Given the description of an element on the screen output the (x, y) to click on. 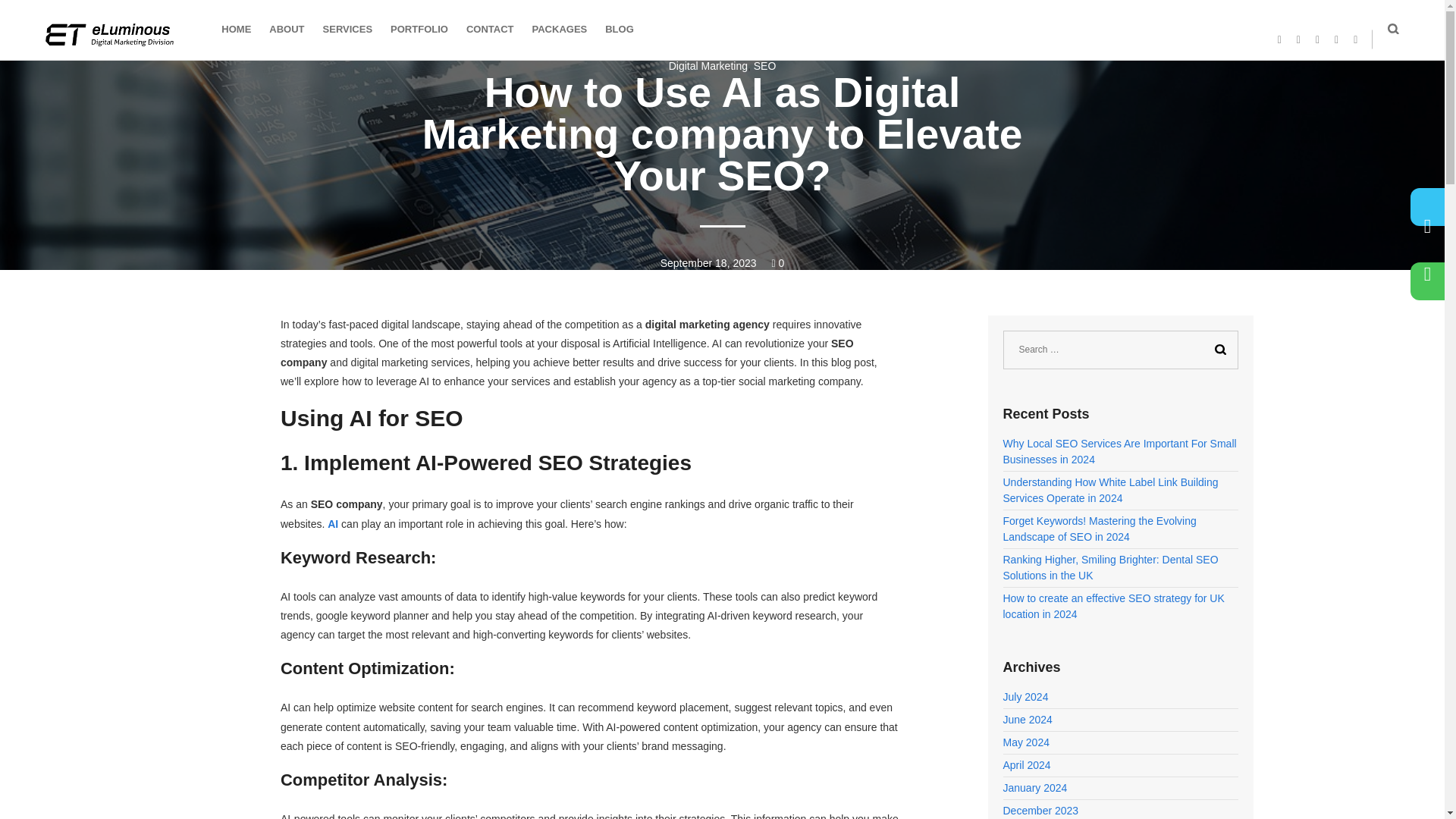
SERVICES (347, 30)
PORTFOLIO (419, 30)
CONTACT (489, 30)
PACKAGES (559, 30)
